Given the description of an element on the screen output the (x, y) to click on. 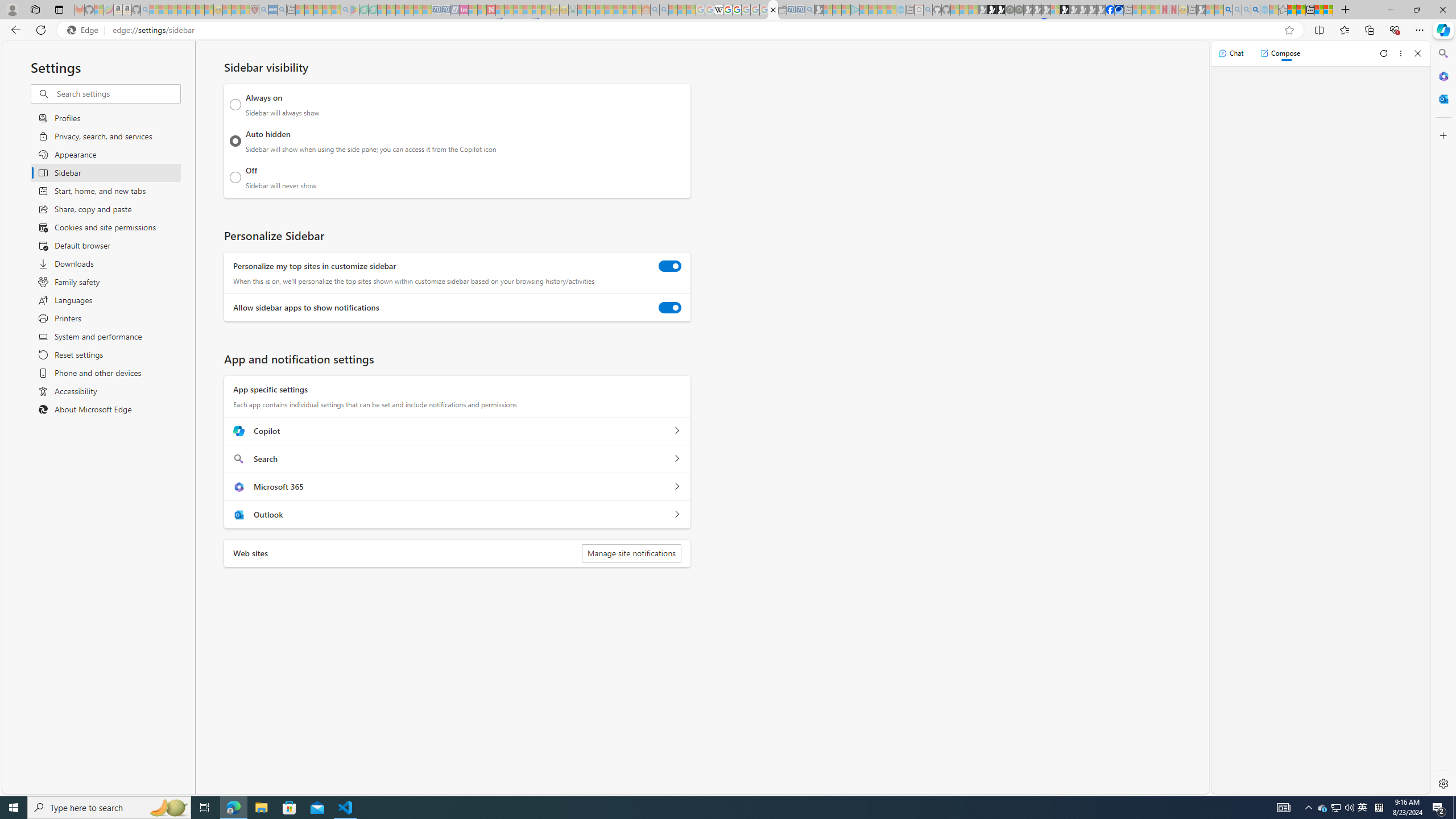
Allow sidebar apps to show notifications (669, 307)
Future Focus Report 2024 - Sleeping (1018, 9)
Latest Politics News & Archive | Newsweek.com - Sleeping (490, 9)
Aberdeen, Hong Kong SAR weather forecast | Microsoft Weather (1300, 9)
Off Sidebar will never show (235, 177)
Wallet - Sleeping (782, 9)
MSNBC - MSN - Sleeping (581, 9)
Personalize my top sites in customize sidebar (669, 265)
